Given the description of an element on the screen output the (x, y) to click on. 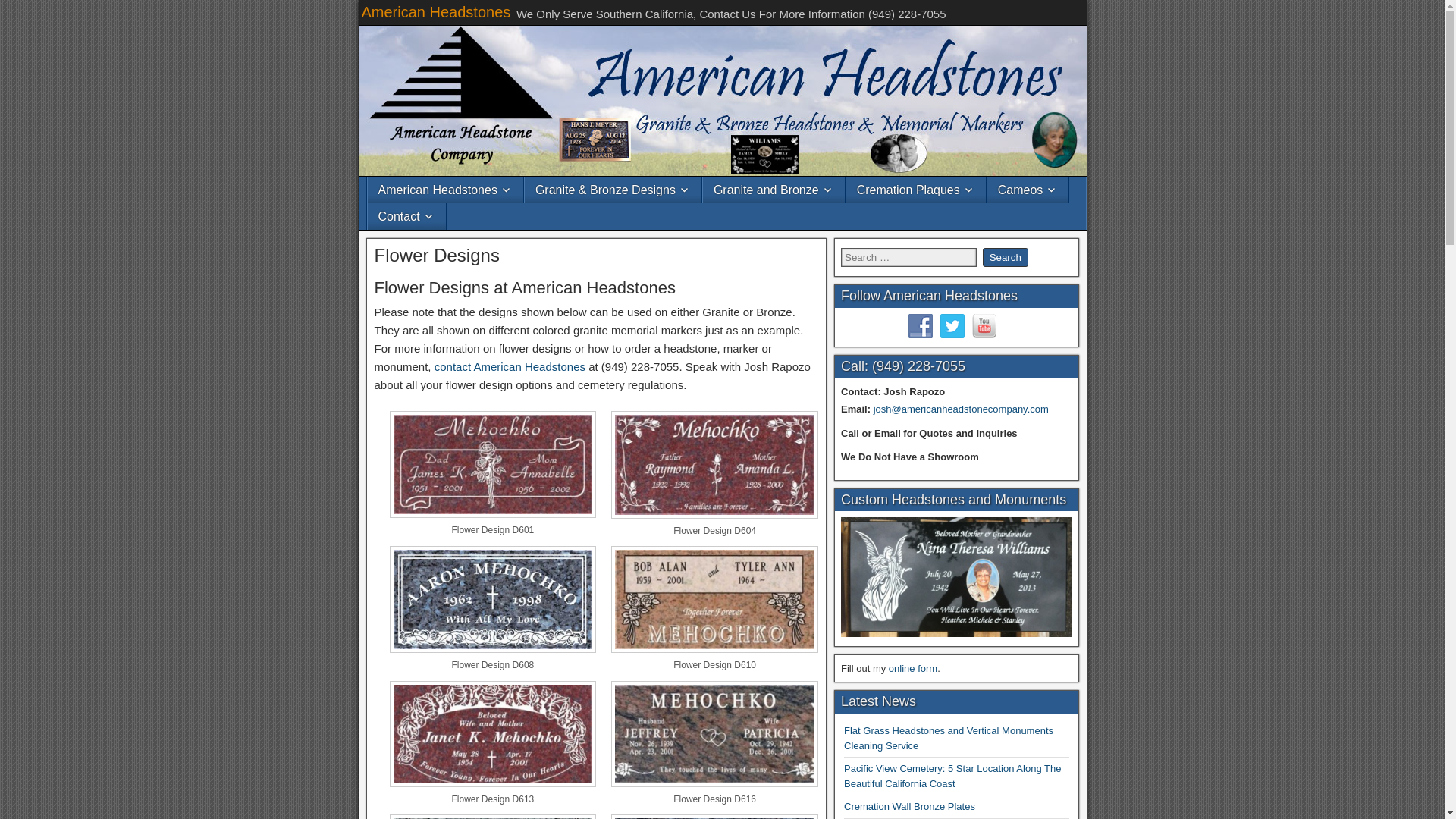
Contact American Headstones for Flower Designs (509, 366)
Contact (405, 216)
Cremation Plaques (915, 189)
Granite and Bronze (773, 189)
American Headstones (436, 12)
Watch Us on YouTube (983, 325)
Search (1004, 257)
Flower Designs (436, 254)
contact American Headstones (509, 366)
American Headstones (444, 189)
Search (1004, 257)
Cameos (1027, 189)
Follow Us on Facebook (920, 325)
Custom Headstones and Monuments (956, 576)
